Given the description of an element on the screen output the (x, y) to click on. 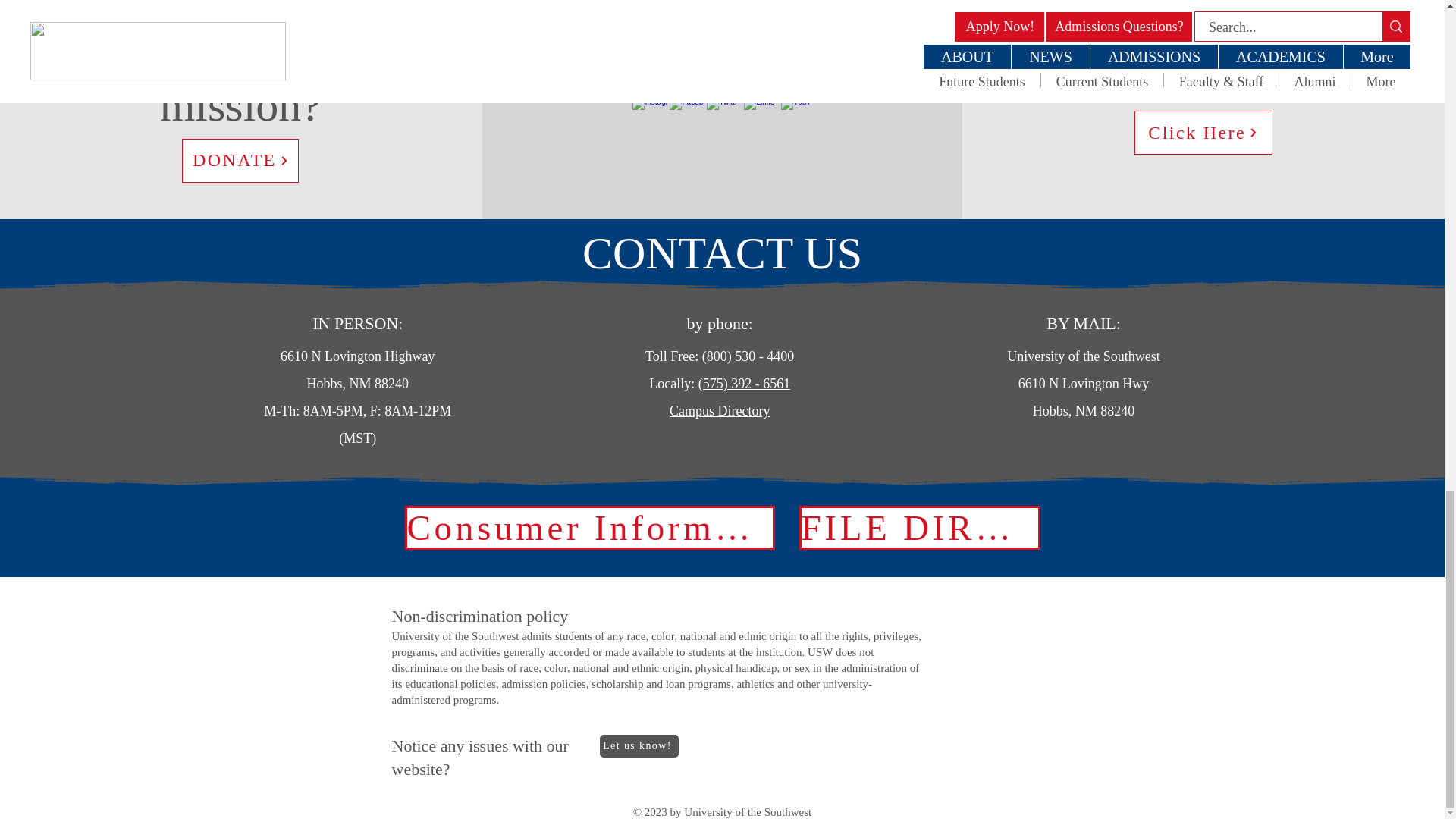
Consumer Information (589, 527)
Main Logo (721, 20)
DONATE (240, 160)
Let us know! (638, 745)
FILE DIRECTORY (920, 527)
Campus Directory (719, 410)
Click Here (1203, 132)
